Given the description of an element on the screen output the (x, y) to click on. 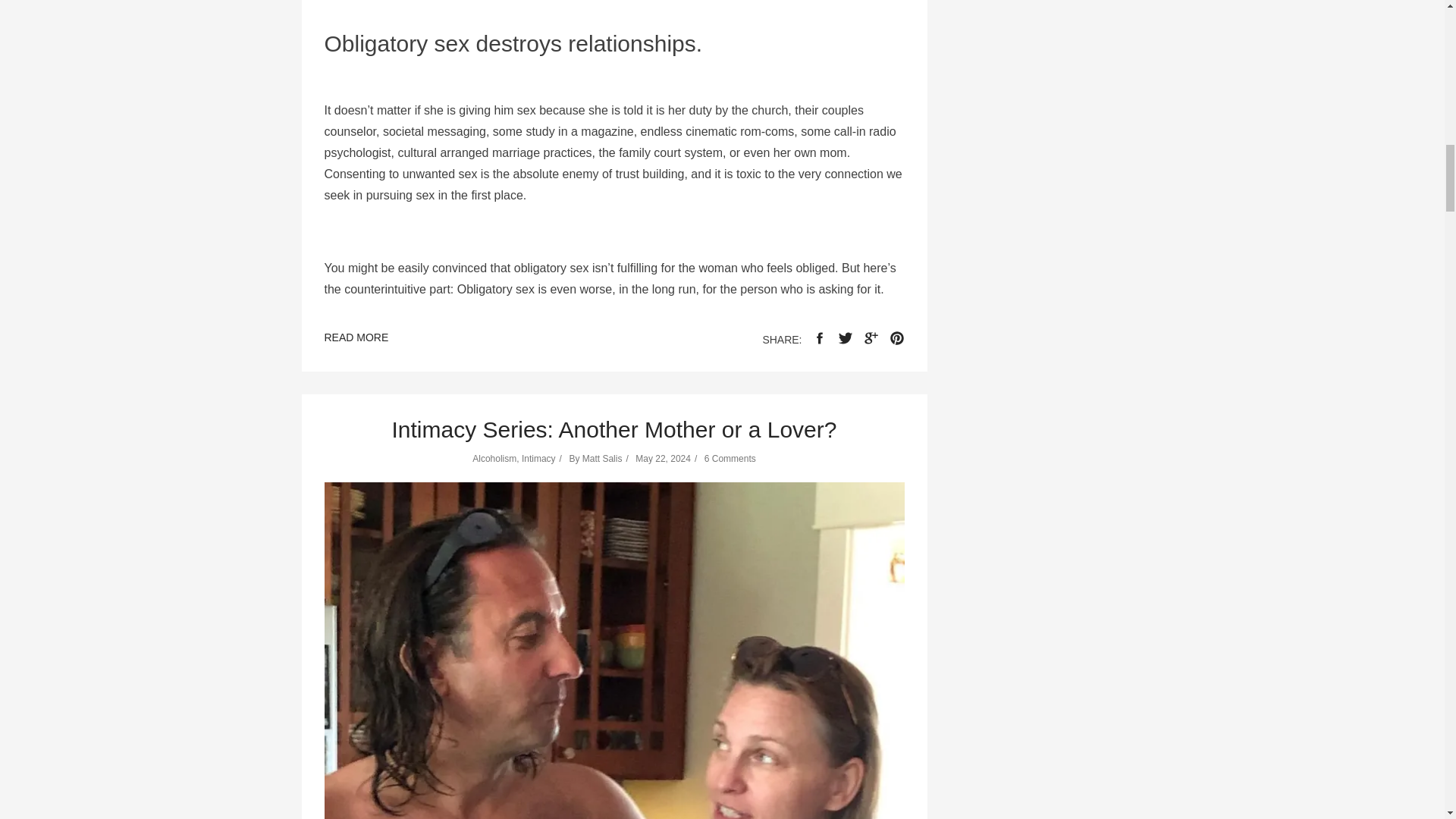
Matt Salis (602, 458)
READ MORE (356, 339)
Intimacy (538, 458)
Intimacy Series: Another Mother or a Lover? (614, 429)
Alcoholism (493, 458)
